Given the description of an element on the screen output the (x, y) to click on. 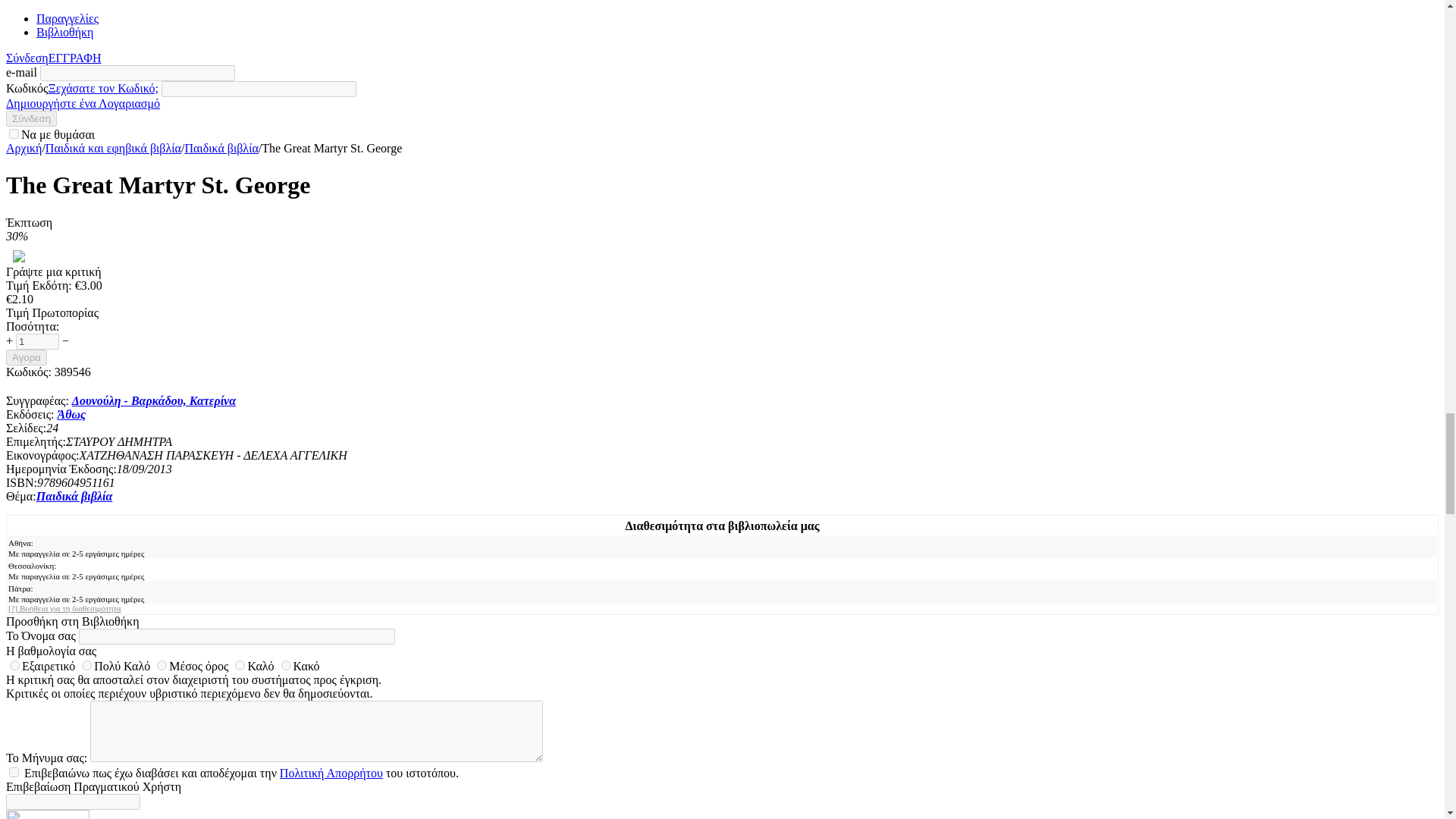
2 (239, 665)
Y (13, 772)
5 (15, 665)
4 (86, 665)
Y (13, 133)
1 (286, 665)
3 (162, 665)
1 (37, 341)
